Given the description of an element on the screen output the (x, y) to click on. 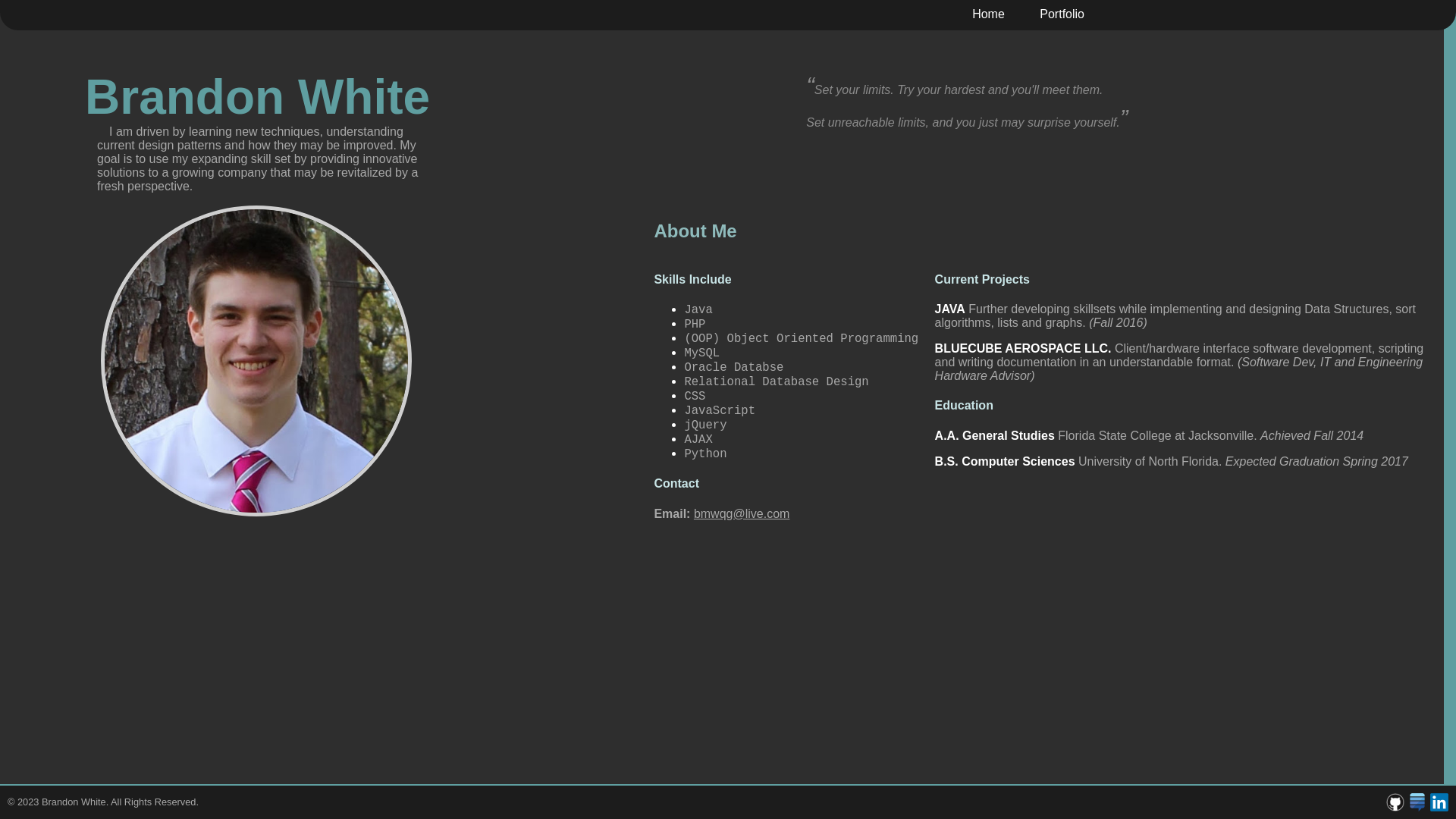
Home Element type: text (979, 13)
Portfolio Element type: text (1053, 13)
View my LinkedIn and Connect with me! Element type: hover (1437, 802)
bmwqg@live.com Element type: text (741, 513)
Check out projects I have worked on! Element type: hover (1393, 802)
Brandon White - Software Engineer Element type: hover (255, 360)
Check out questions I have asked and answered! Element type: hover (1415, 802)
